Given the description of an element on the screen output the (x, y) to click on. 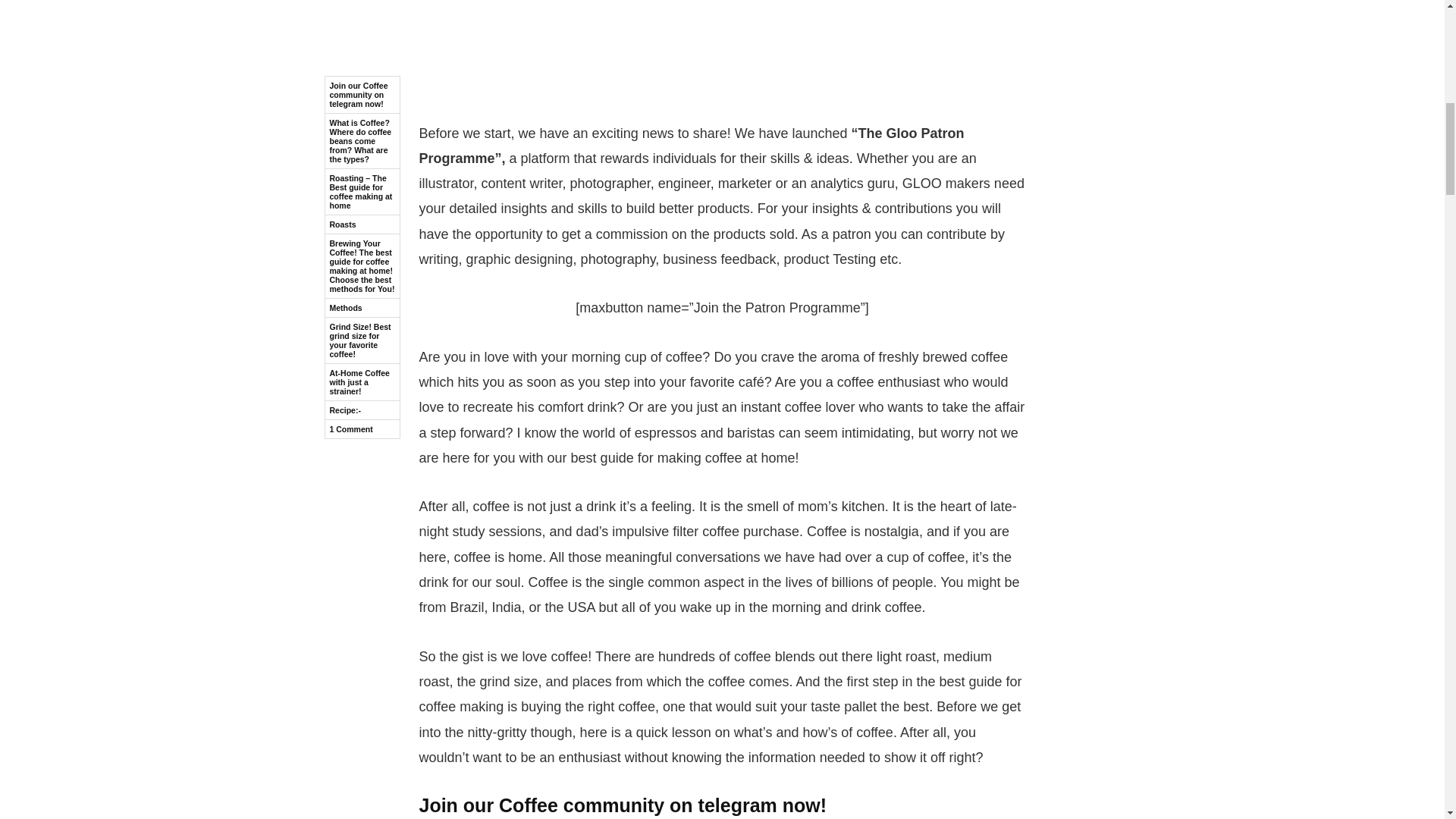
Methods (361, 99)
1 Comment (361, 220)
Roasts (361, 15)
Recipe:- (361, 201)
Grind Size! Best grind size for your favorite coffee! (361, 131)
At-Home Coffee with just a strainer! (361, 173)
